Given the description of an element on the screen output the (x, y) to click on. 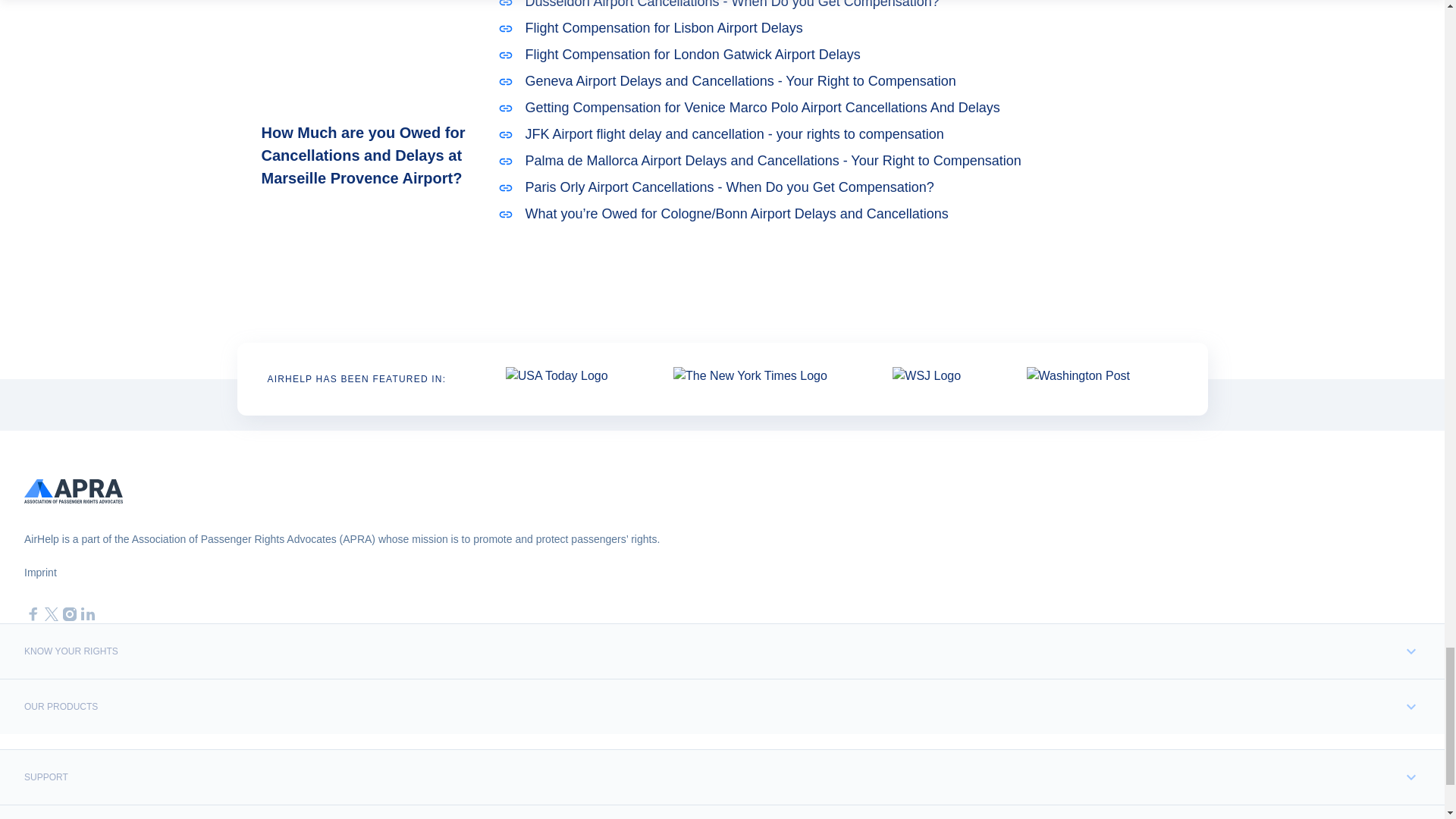
Imprint (40, 572)
SocialTwitter (51, 614)
Flight Compensation for Lisbon Airport Delays (800, 28)
Flight Compensation for London Gatwick Airport Delays (800, 55)
SocialInstagram (69, 614)
SocialFacebook (33, 614)
SocialLinkedin (87, 614)
Imprint (40, 572)
